Given the description of an element on the screen output the (x, y) to click on. 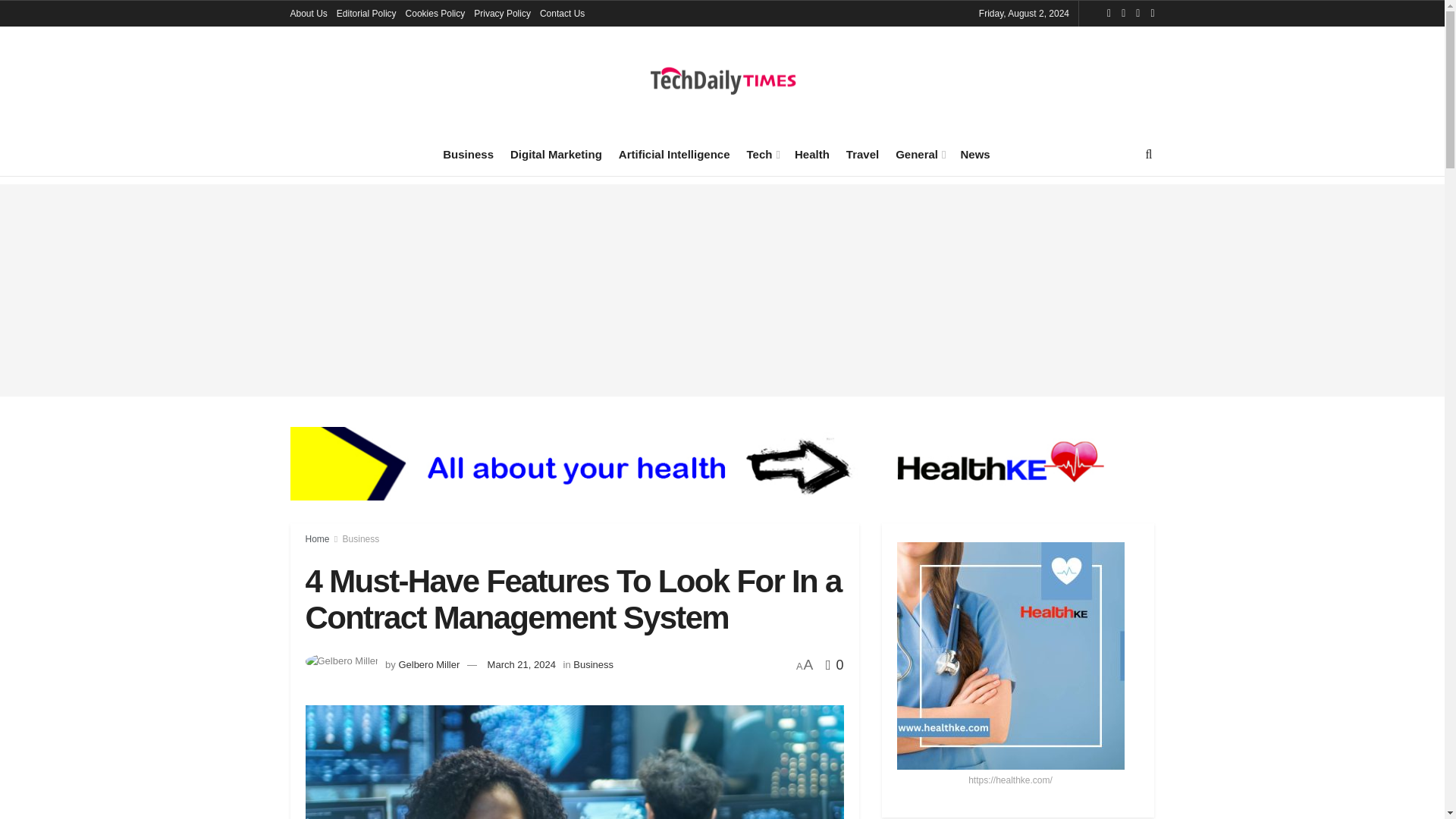
General (919, 154)
Digital Marketing (556, 154)
Editorial Policy (366, 13)
Contact Us (562, 13)
Cookies Policy (435, 13)
Privacy Policy (502, 13)
Business (467, 154)
About Us (307, 13)
Artificial Intelligence (674, 154)
